Given the description of an element on the screen output the (x, y) to click on. 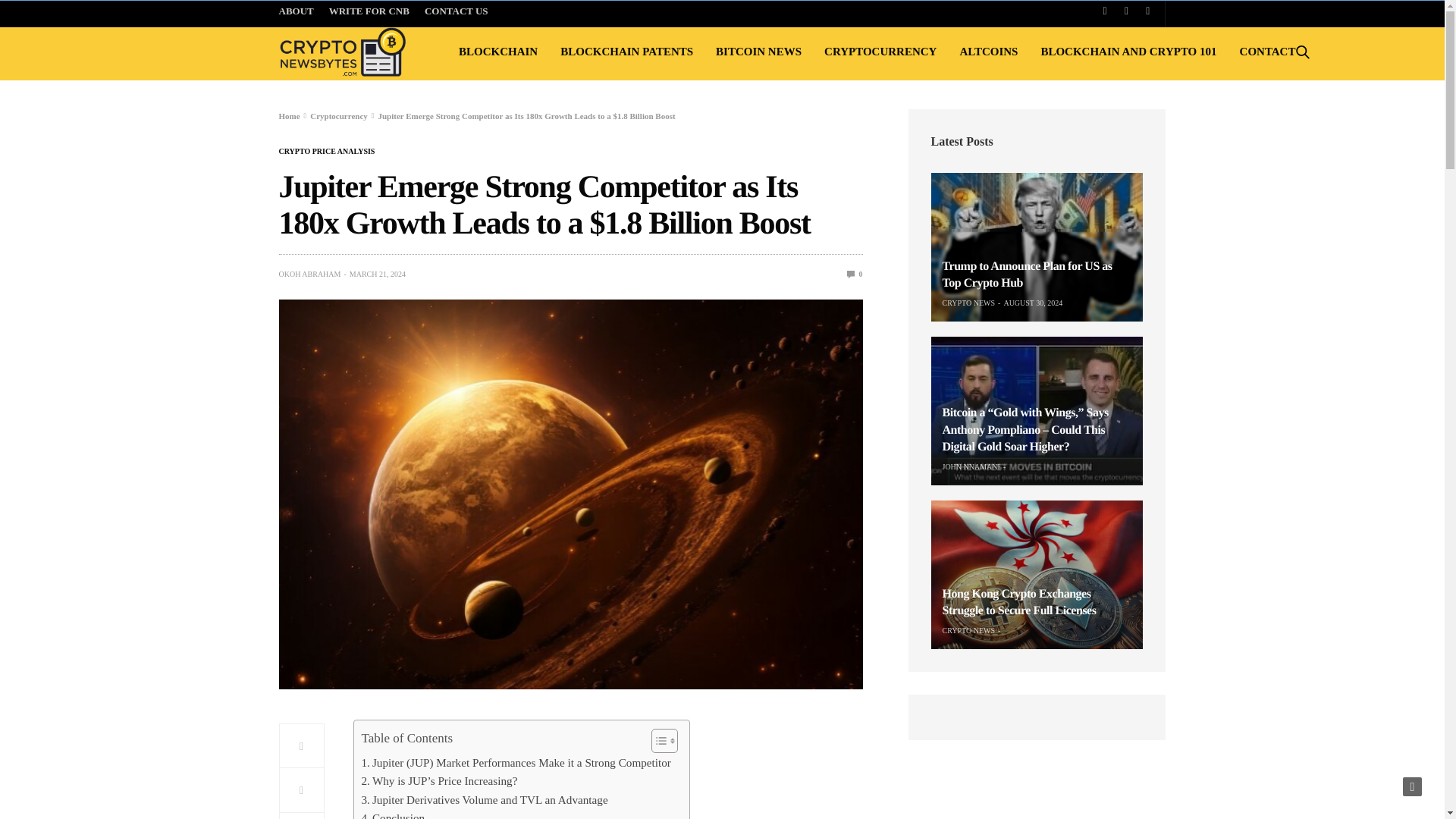
BITCOIN NEWS (759, 51)
CONTACT (1267, 51)
BLOCKCHAIN AND CRYPTO 101 (1128, 51)
Cryptocurrency (339, 115)
WRITE FOR CNB (368, 13)
CRYPTO PRICE ANALYSIS (327, 151)
BLOCKCHAIN PATENTS (626, 51)
ABOUT (300, 13)
CRYPTOCURRENCY (880, 51)
